Given the description of an element on the screen output the (x, y) to click on. 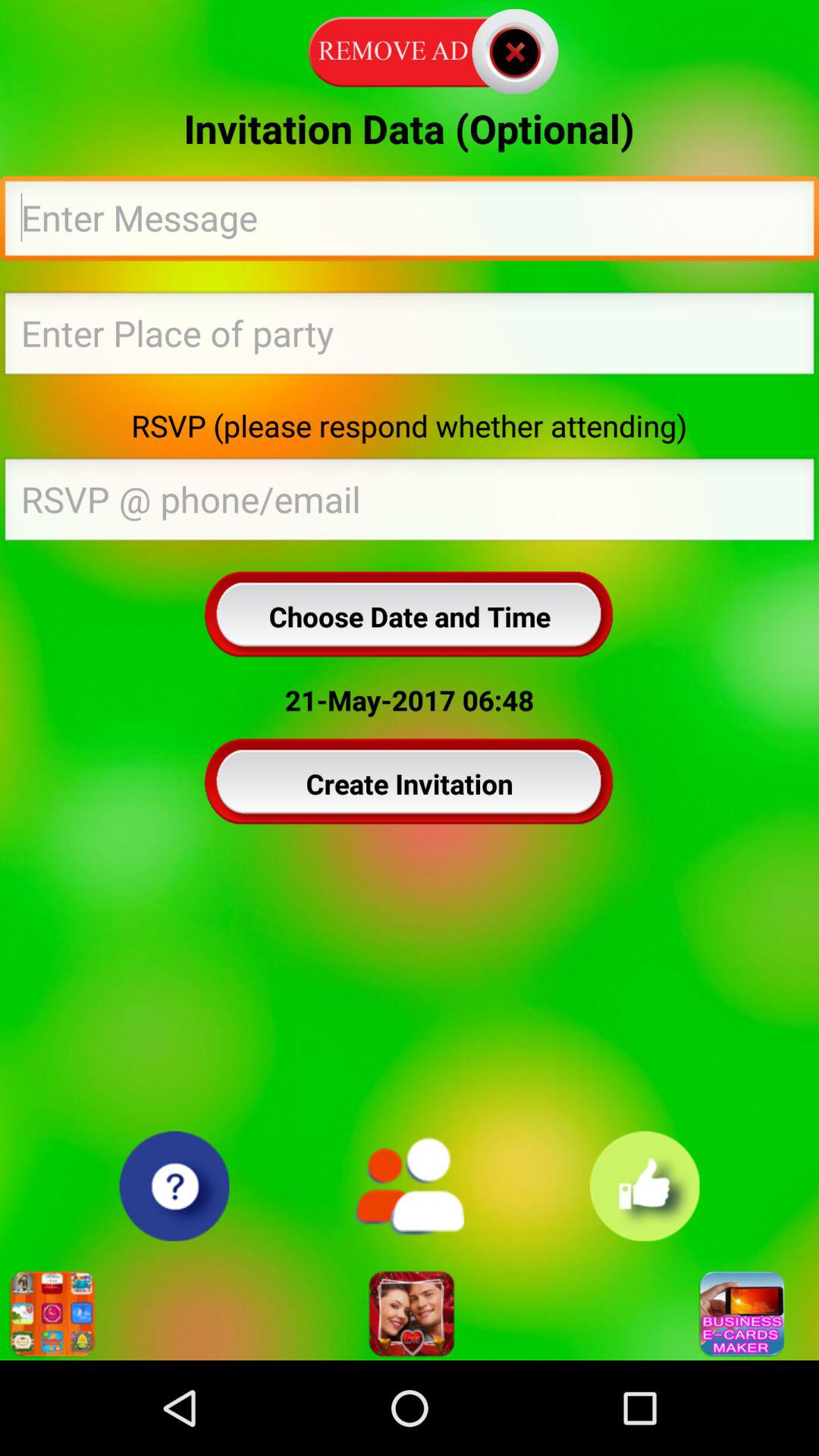
press icon below the create invitation icon (409, 1186)
